Given the description of an element on the screen output the (x, y) to click on. 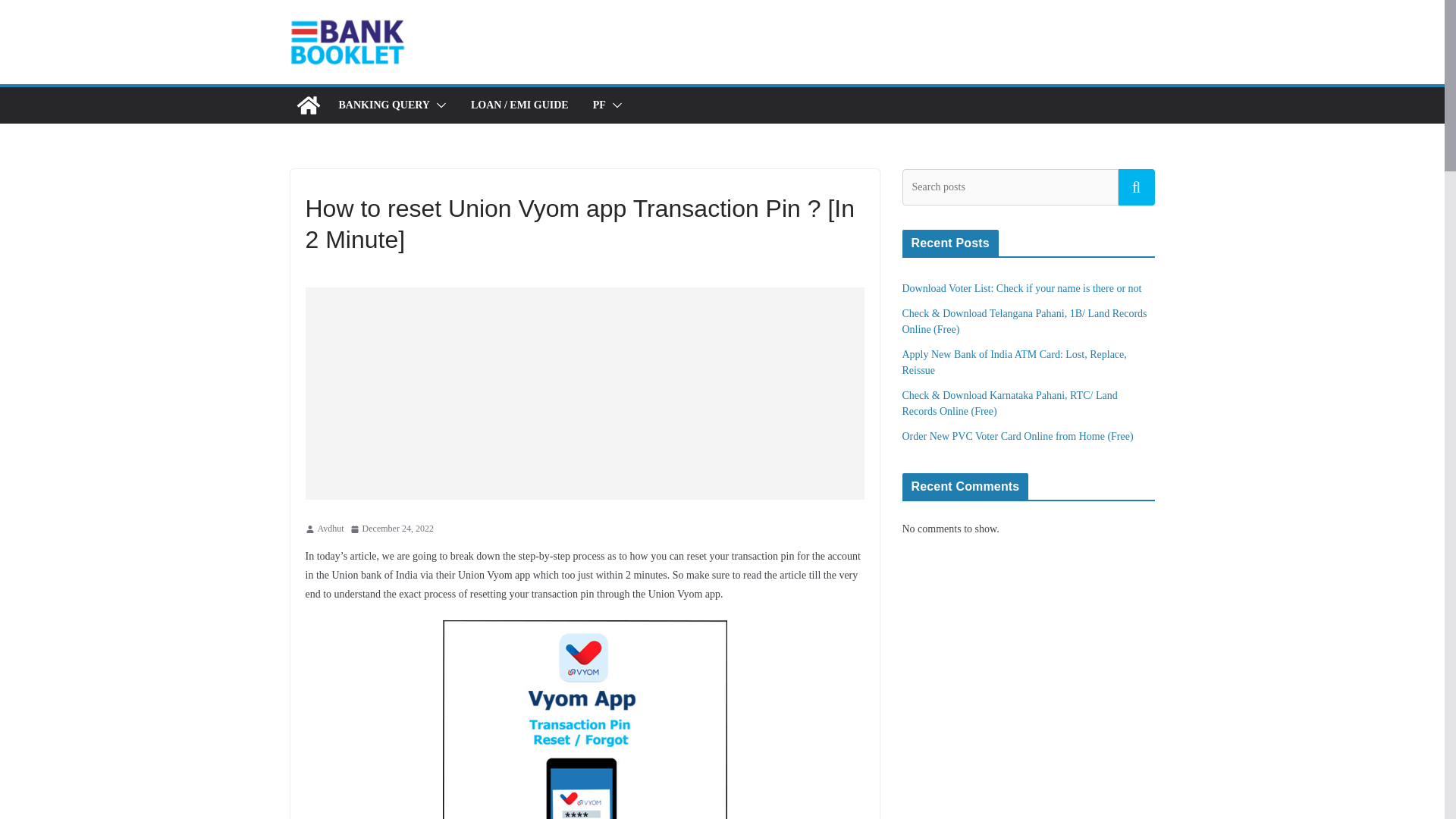
Advertisement (594, 393)
December 24, 2022 (391, 528)
Search (1136, 186)
BANKING QUERY (383, 105)
Apply New Bank of India ATM Card: Lost, Replace, Reissue (1014, 361)
Avdhut (330, 528)
BankBooklet.com (307, 104)
Download Voter List: Check if your name is there or not (1021, 288)
Avdhut (330, 528)
5:26 pm (391, 528)
